Given the description of an element on the screen output the (x, y) to click on. 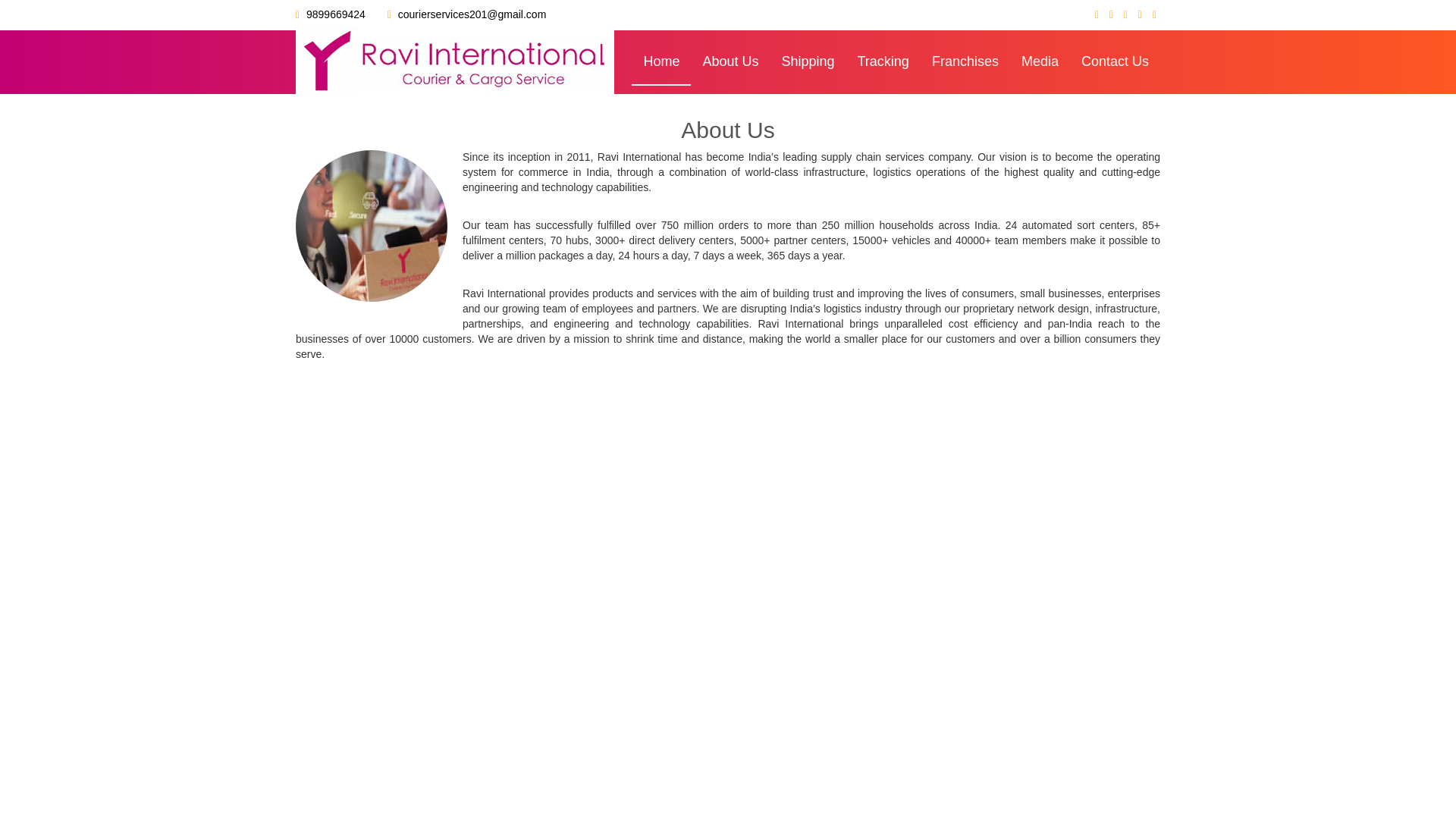
About Us (730, 61)
Home (660, 61)
Media (1040, 61)
9899669424 (335, 14)
Contact Us (1115, 61)
Shipping (807, 61)
Franchises (965, 61)
Tracking (882, 61)
